Given the description of an element on the screen output the (x, y) to click on. 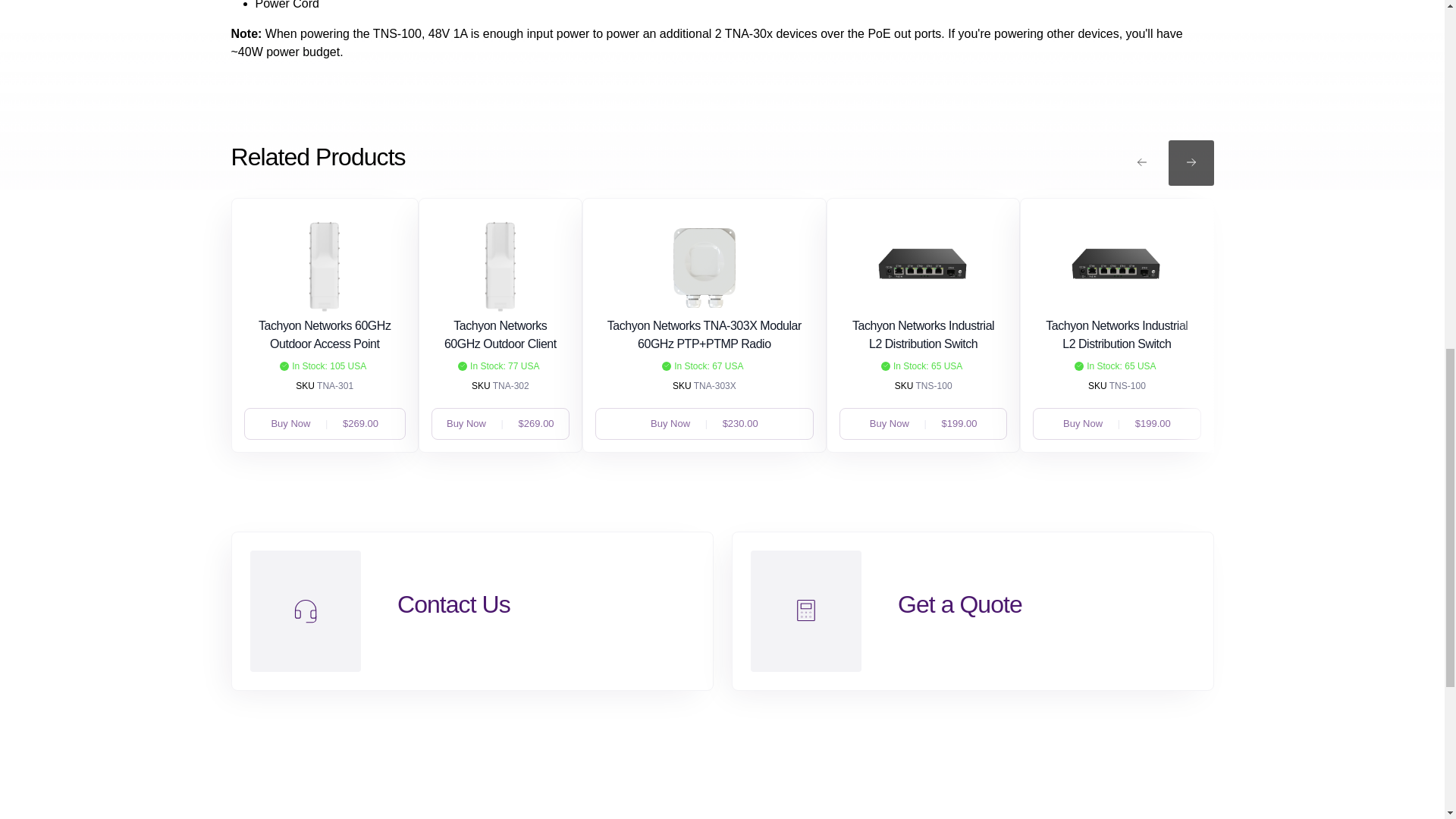
Tachyon Networks 60GHz Outdoor Access Point (324, 334)
Tachyon Networks 60GHz Outdoor Client (500, 334)
Tachyon Networks Industrial L2 Distribution Switch (1116, 334)
Tachyon Networks Industrial L2 Distribution Switch (922, 334)
